Given the description of an element on the screen output the (x, y) to click on. 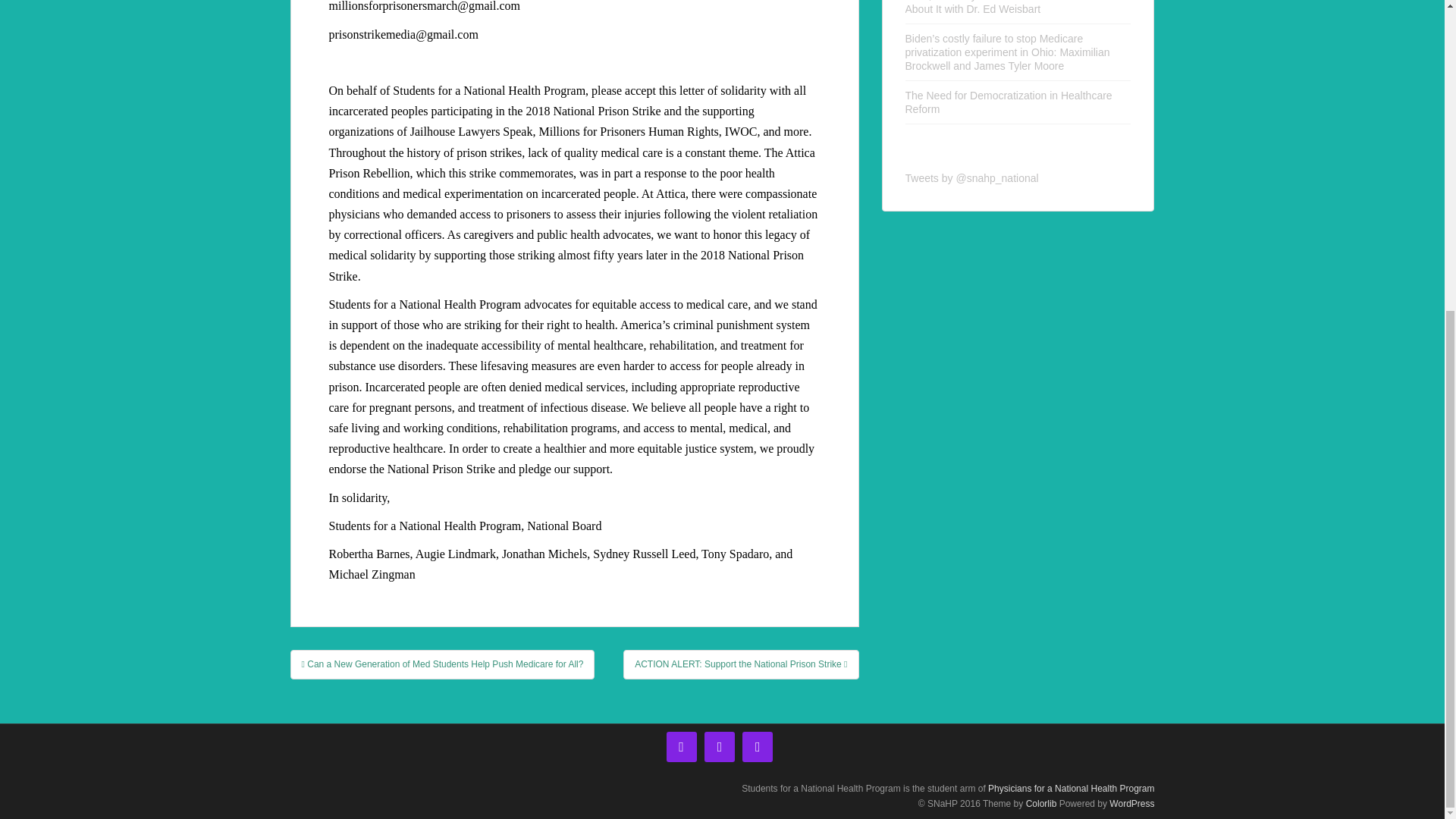
ACTION ALERT: Support the National Prison Strike (741, 664)
The Need for Democratization in Healthcare Reform (1008, 102)
